Given the description of an element on the screen output the (x, y) to click on. 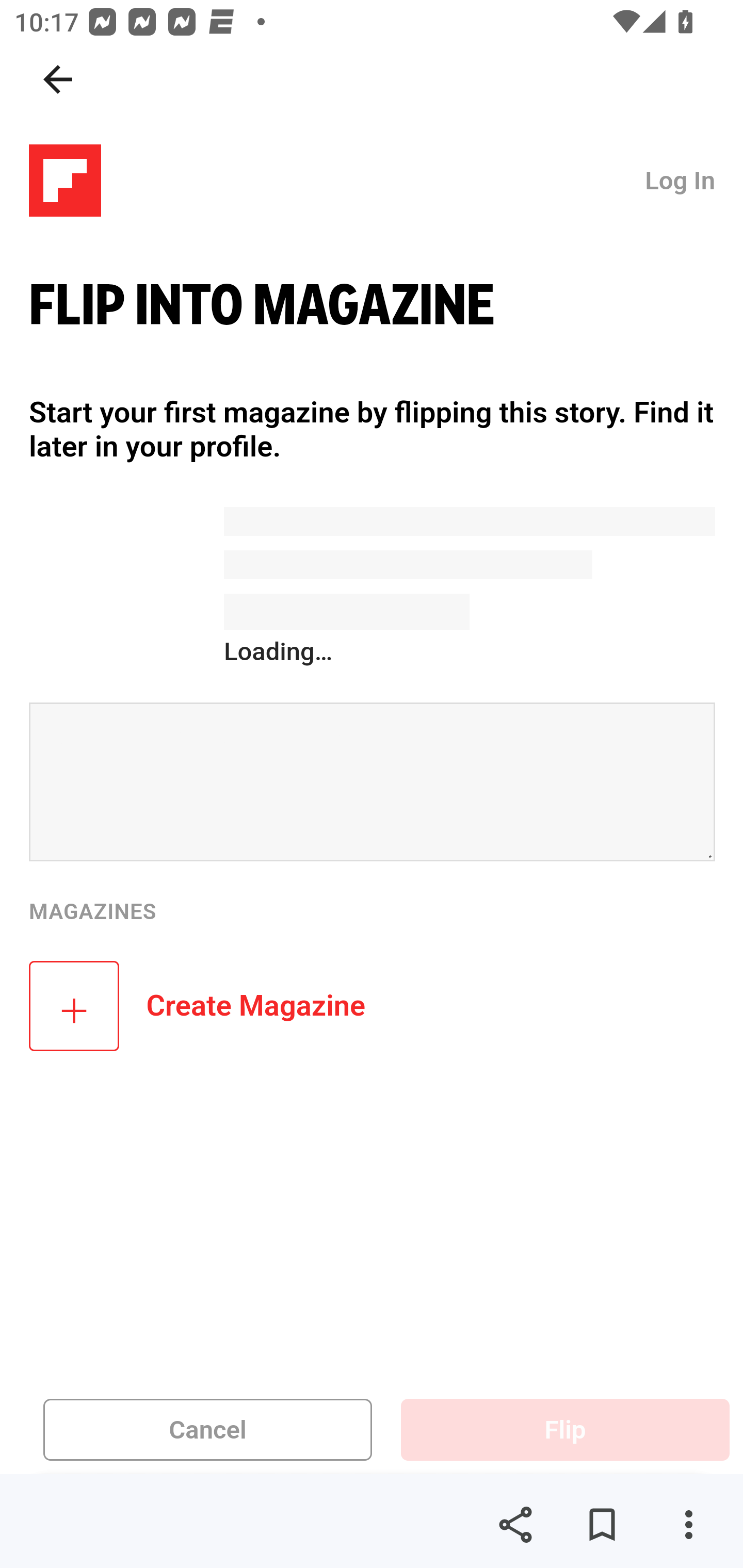
Navigate up (57, 79)
Cancel (208, 1429)
Flip (566, 1429)
Share (514, 1524)
Save for later (601, 1524)
More options (688, 1524)
